Given the description of an element on the screen output the (x, y) to click on. 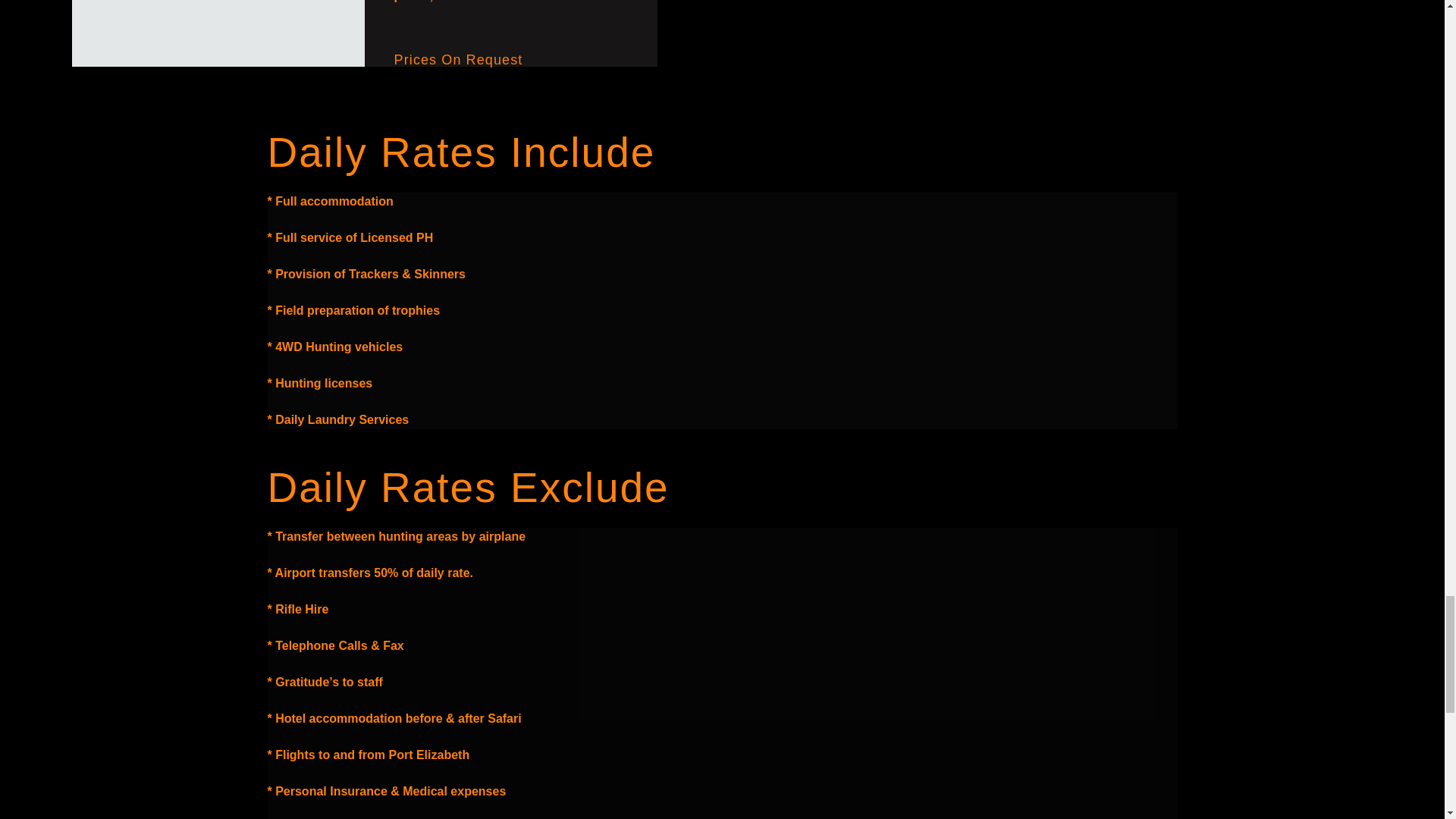
Prices On Request (458, 59)
